Given the description of an element on the screen output the (x, y) to click on. 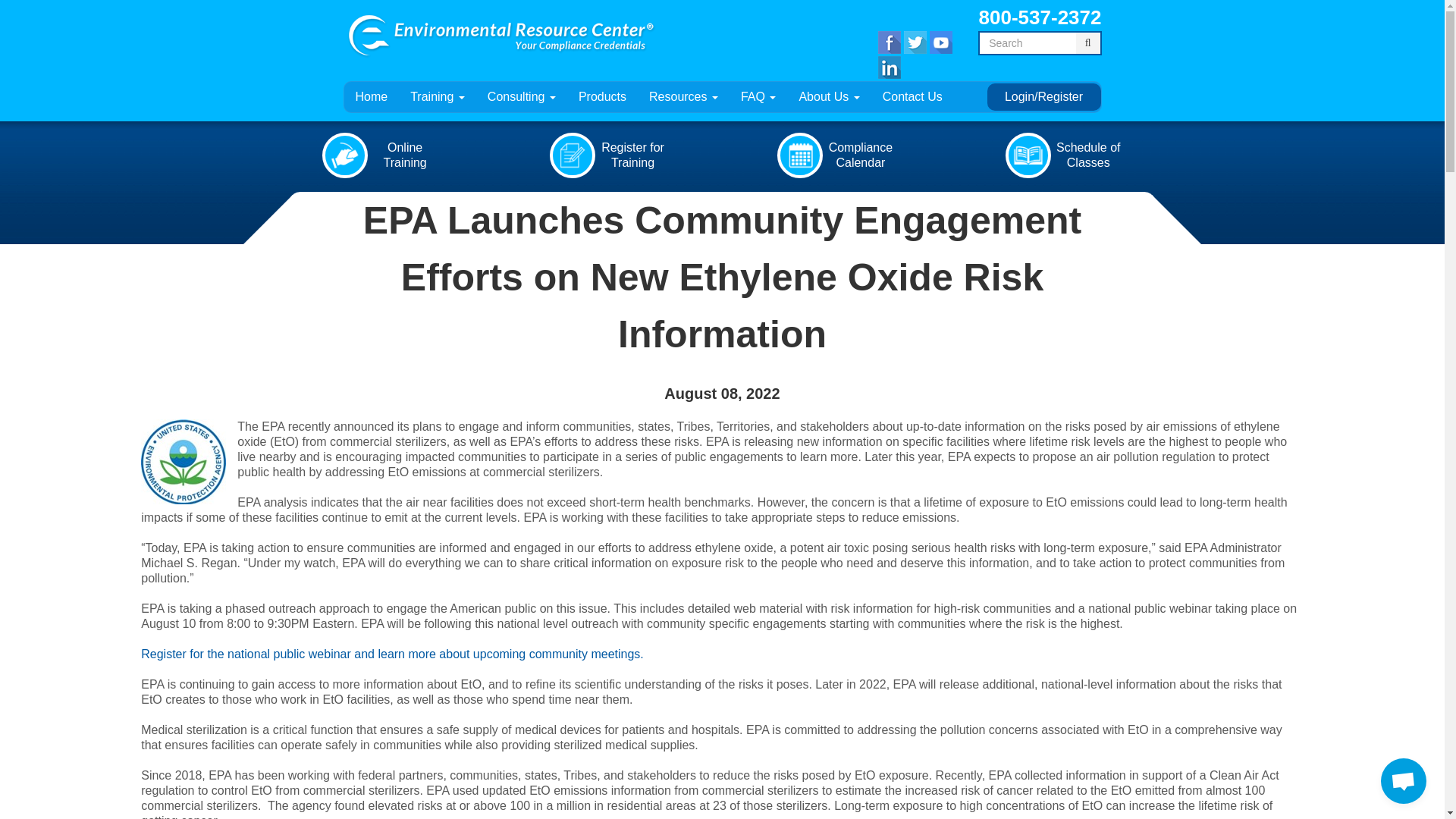
FAQ (758, 96)
Resources (683, 96)
Training (437, 96)
Consulting (521, 96)
Products (602, 96)
Home (370, 96)
About Us (828, 96)
